Given the description of an element on the screen output the (x, y) to click on. 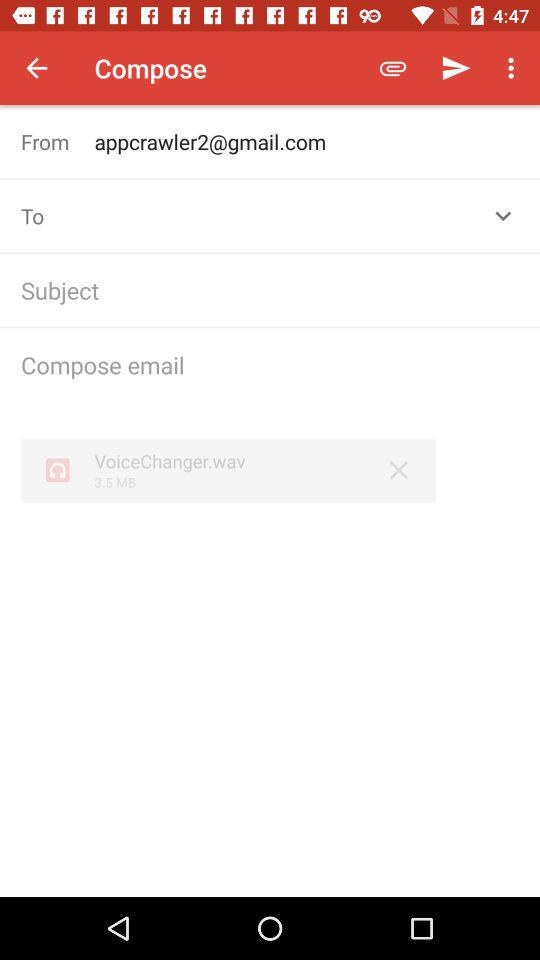
click the item next to the appcrawler2@gmail.com item (57, 141)
